Given the description of an element on the screen output the (x, y) to click on. 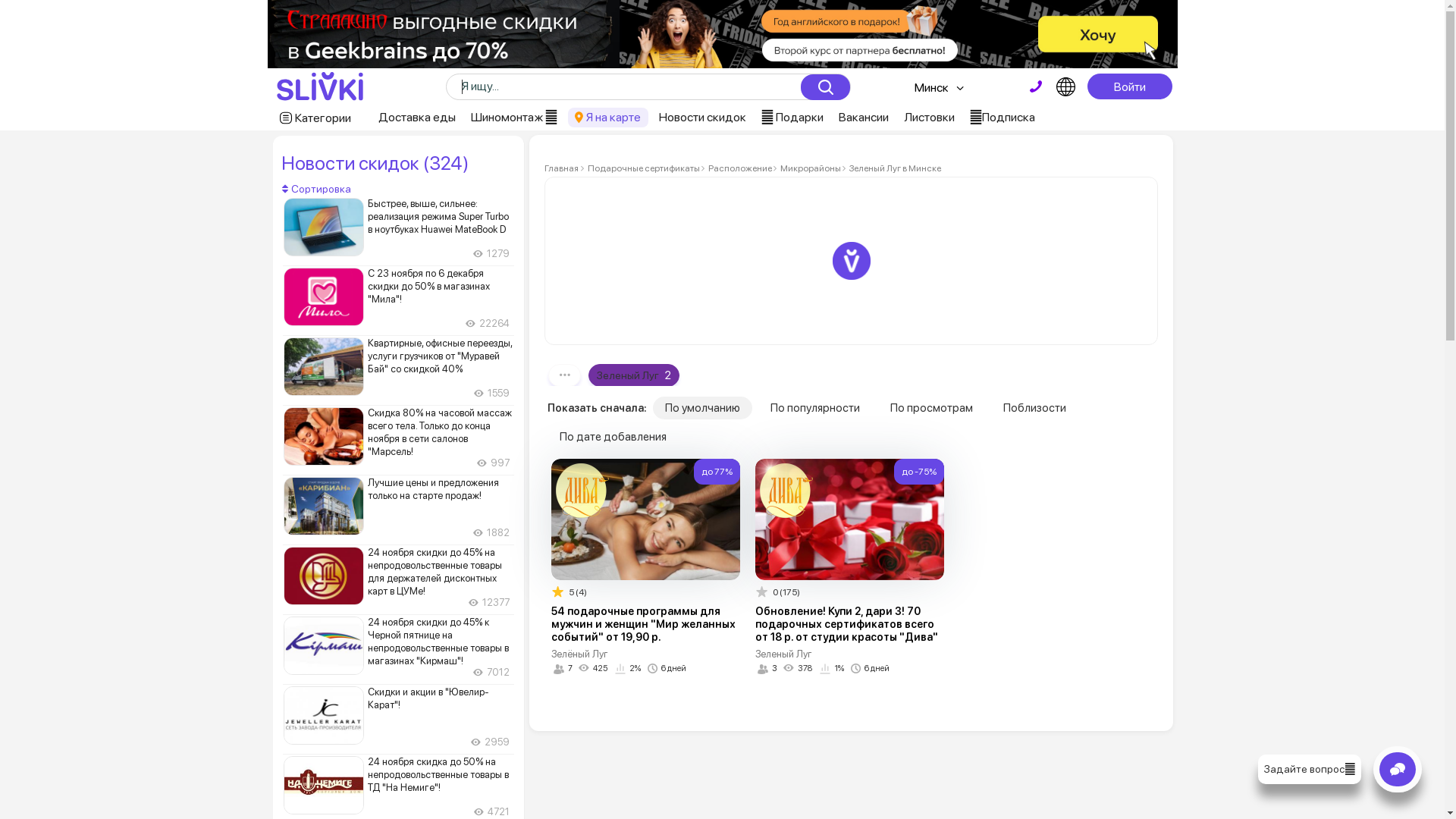
3 Element type: text (767, 667)
  Element type: text (1035, 86)
7 Element type: text (562, 667)
